Given the description of an element on the screen output the (x, y) to click on. 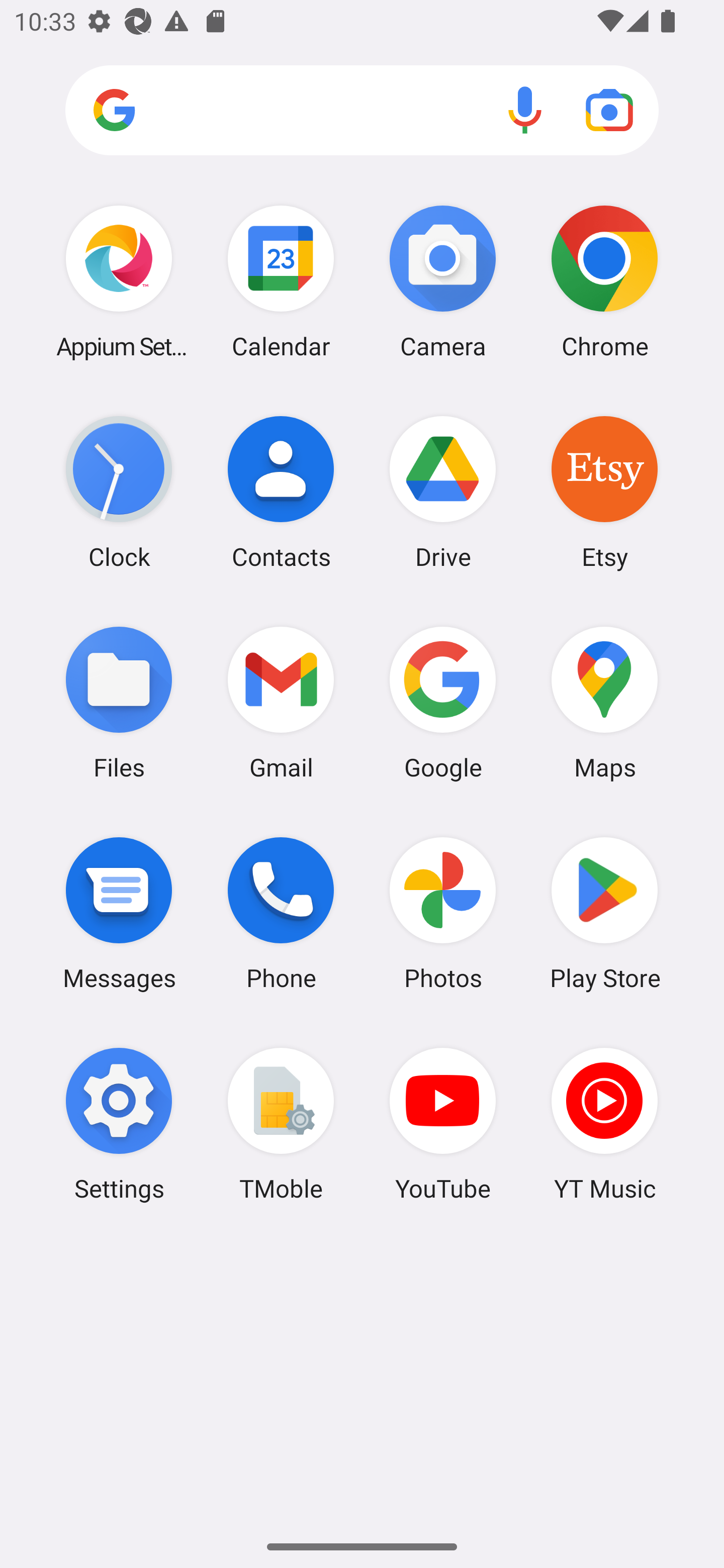
Search apps, web and more (361, 110)
Voice search (524, 109)
Google Lens (608, 109)
Appium Settings (118, 281)
Calendar (280, 281)
Camera (443, 281)
Chrome (604, 281)
Clock (118, 492)
Contacts (280, 492)
Drive (443, 492)
Etsy (604, 492)
Files (118, 702)
Gmail (280, 702)
Google (443, 702)
Maps (604, 702)
Messages (118, 913)
Phone (280, 913)
Photos (443, 913)
Play Store (604, 913)
Settings (118, 1124)
TMoble (280, 1124)
YouTube (443, 1124)
YT Music (604, 1124)
